Given the description of an element on the screen output the (x, y) to click on. 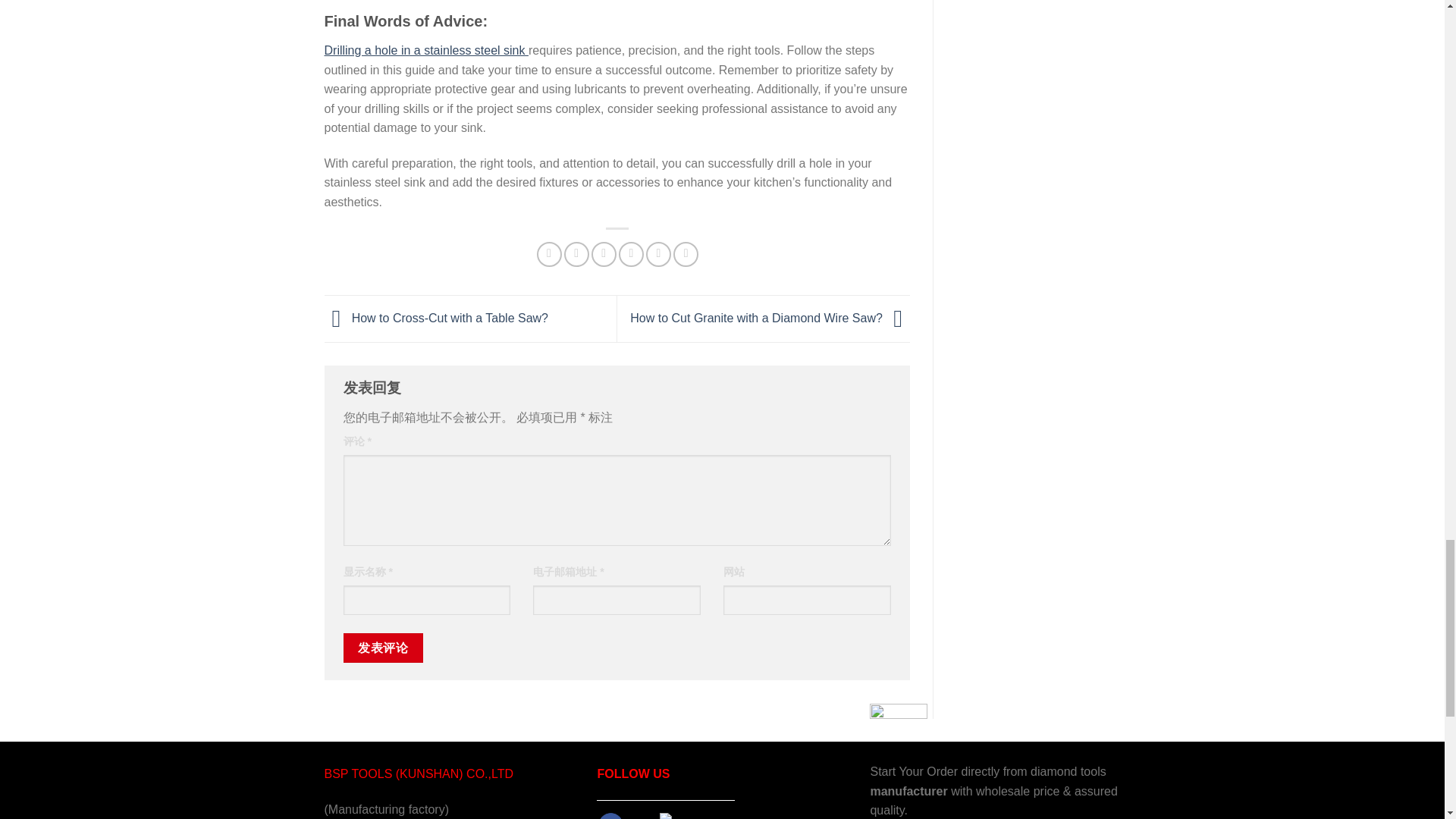
Email to a Friend (603, 253)
Share on LinkedIn (685, 253)
Follow on Facebook (610, 816)
Pin on Pinterest (630, 253)
Share on Twitter (576, 253)
Share on Facebook (549, 253)
